Given the description of an element on the screen output the (x, y) to click on. 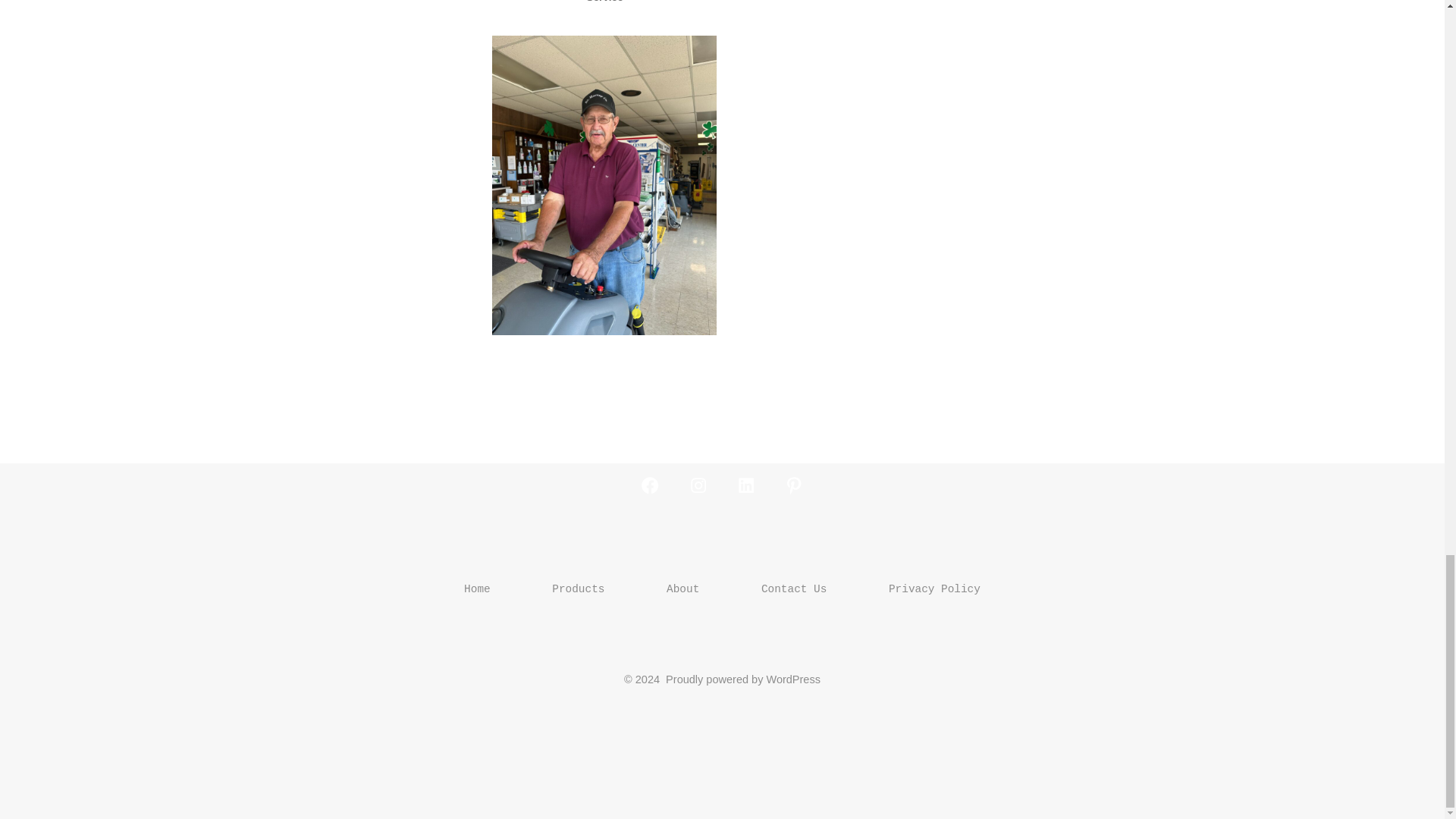
Products (577, 588)
Open Instagram in a new tab (698, 484)
Home (477, 588)
Contact Us (794, 588)
Open LinkedIn in a new tab (745, 484)
Privacy Policy (935, 588)
Open Facebook in a new tab (649, 484)
About (683, 588)
Open Pinterest in a new tab (793, 484)
